Given the description of an element on the screen output the (x, y) to click on. 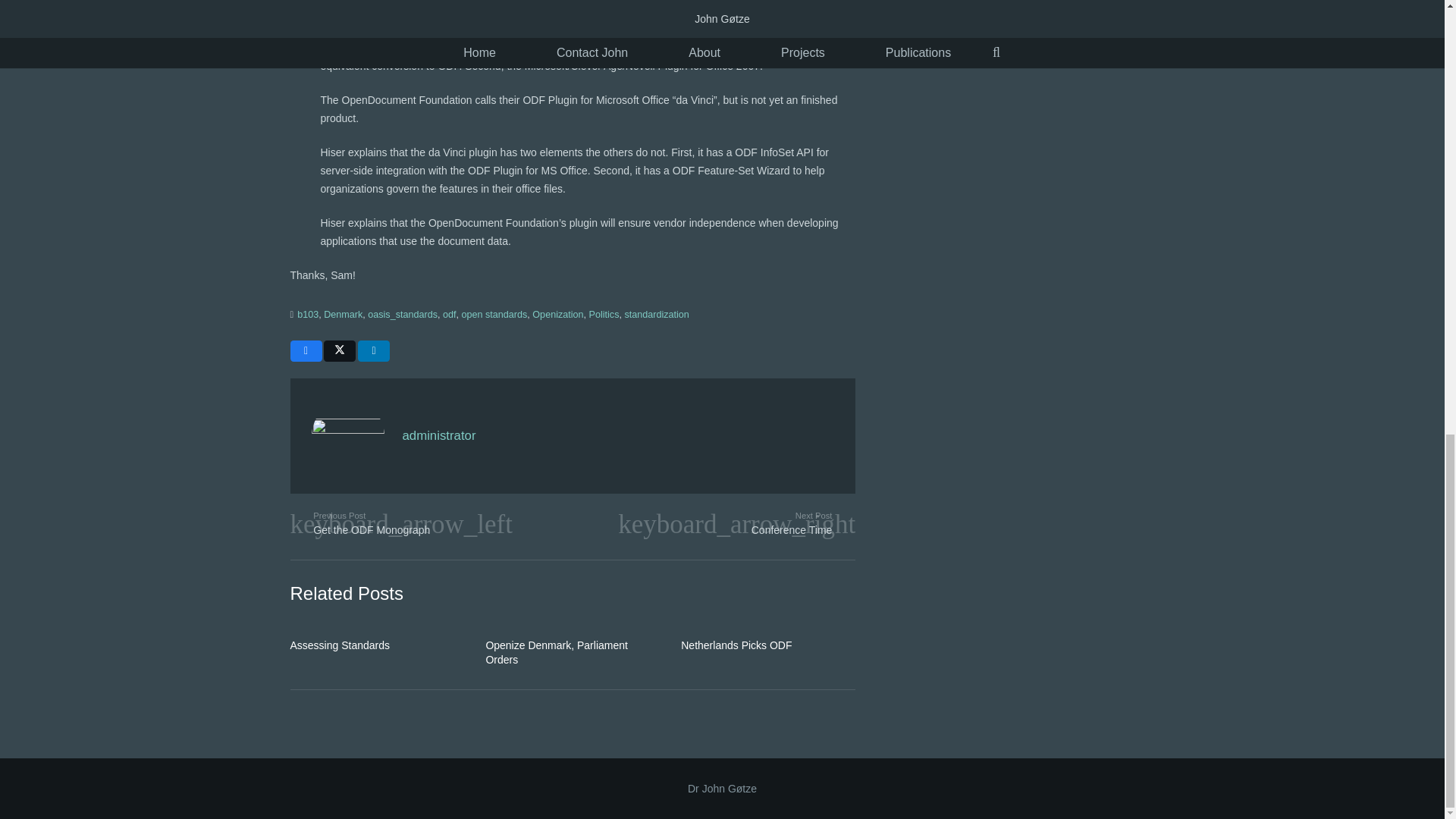
Conference Time (714, 523)
Get the ODF Monograph (430, 523)
Share this (305, 350)
Share this (374, 350)
Denmark (342, 314)
Tweet this (339, 350)
open standards (494, 314)
b103 (307, 314)
odf (449, 314)
